Given the description of an element on the screen output the (x, y) to click on. 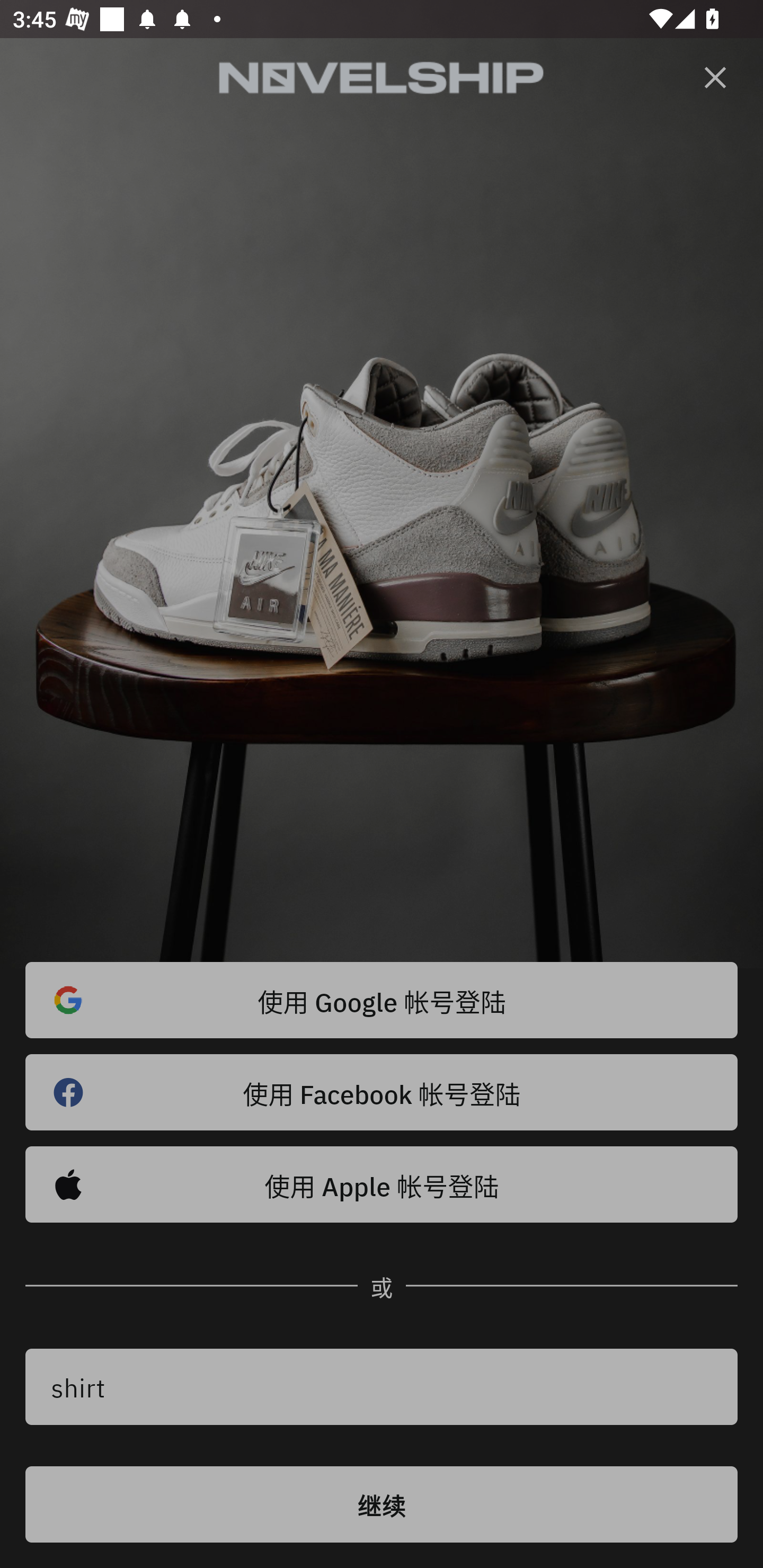
使用 Google 帐号登陆 (381, 1000)
使用 Facebook 帐号登陆 󰈌 (381, 1091)
 使用 Apple 帐号登陆 (381, 1184)
shirt (381, 1386)
继续 (381, 1504)
